Given the description of an element on the screen output the (x, y) to click on. 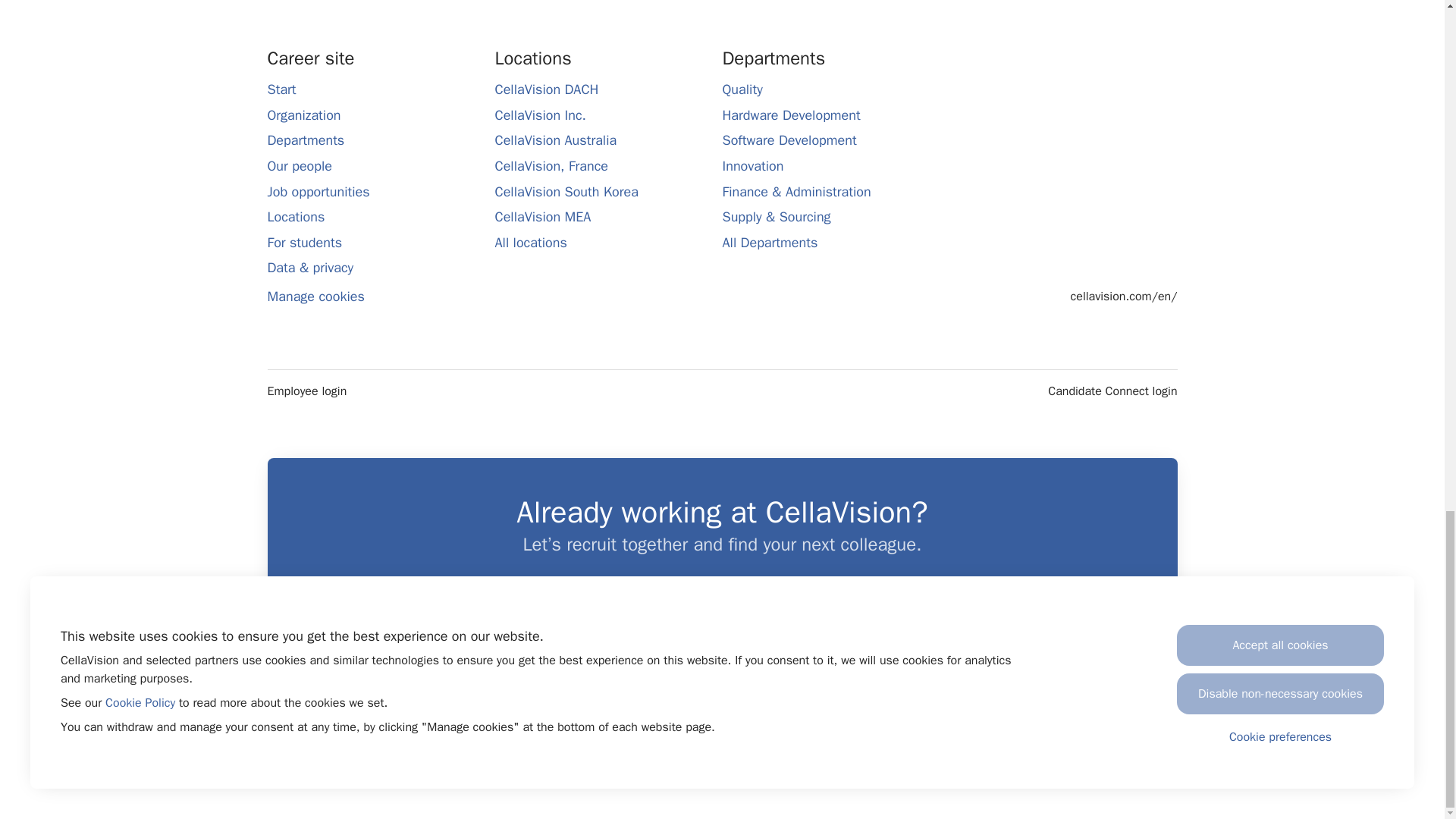
Niklas Westerling (834, 676)
Candidate Connect login (1112, 391)
Susanne Chau (908, 676)
All Departments (769, 241)
Adam Morell (759, 676)
Innovation (752, 165)
Start (280, 88)
Job opportunities (317, 191)
Jean-Guy Lafleche (536, 676)
CellaVision, France (551, 165)
